Given the description of an element on the screen output the (x, y) to click on. 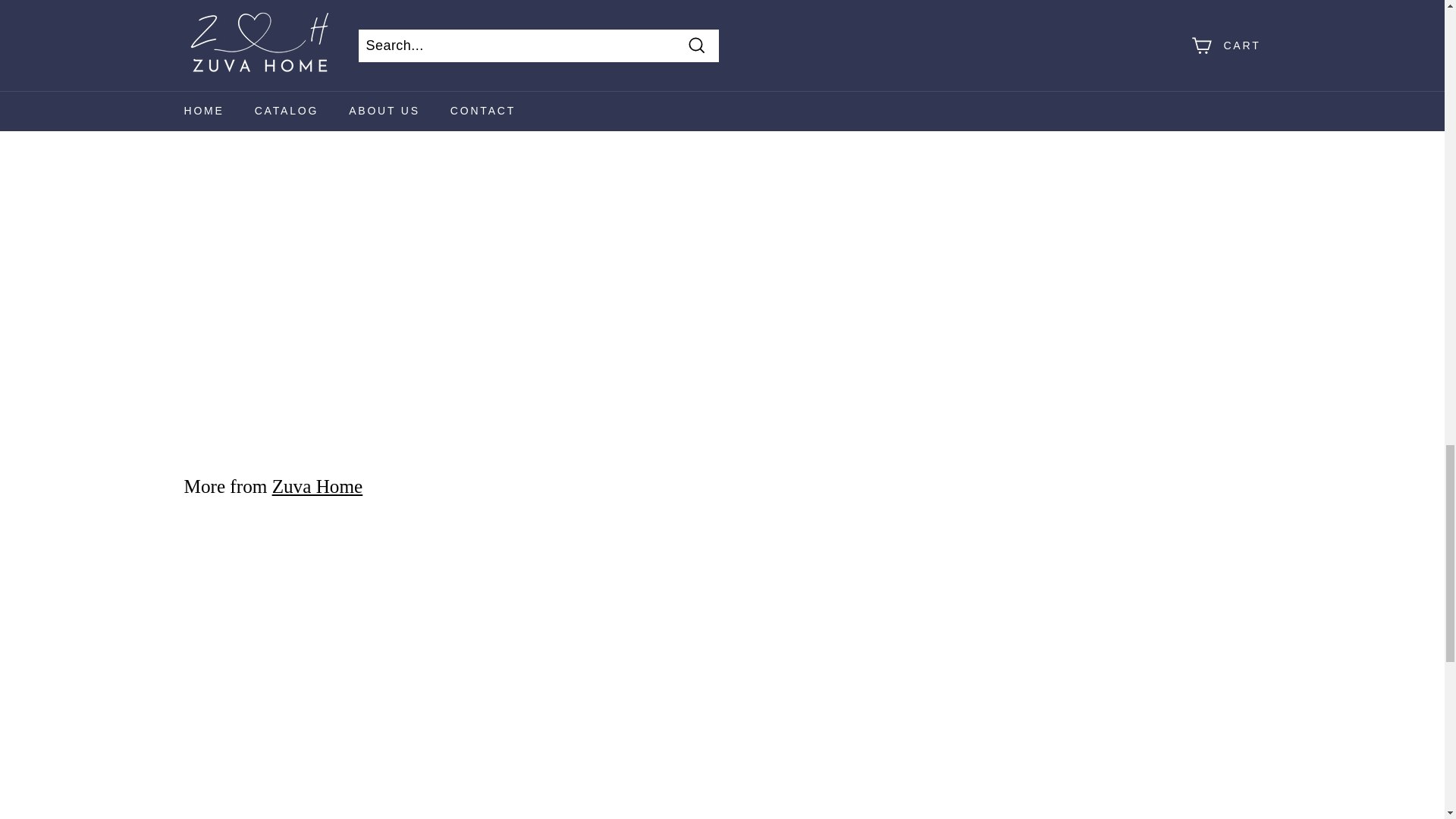
Zuva Home (317, 485)
